Given the description of an element on the screen output the (x, y) to click on. 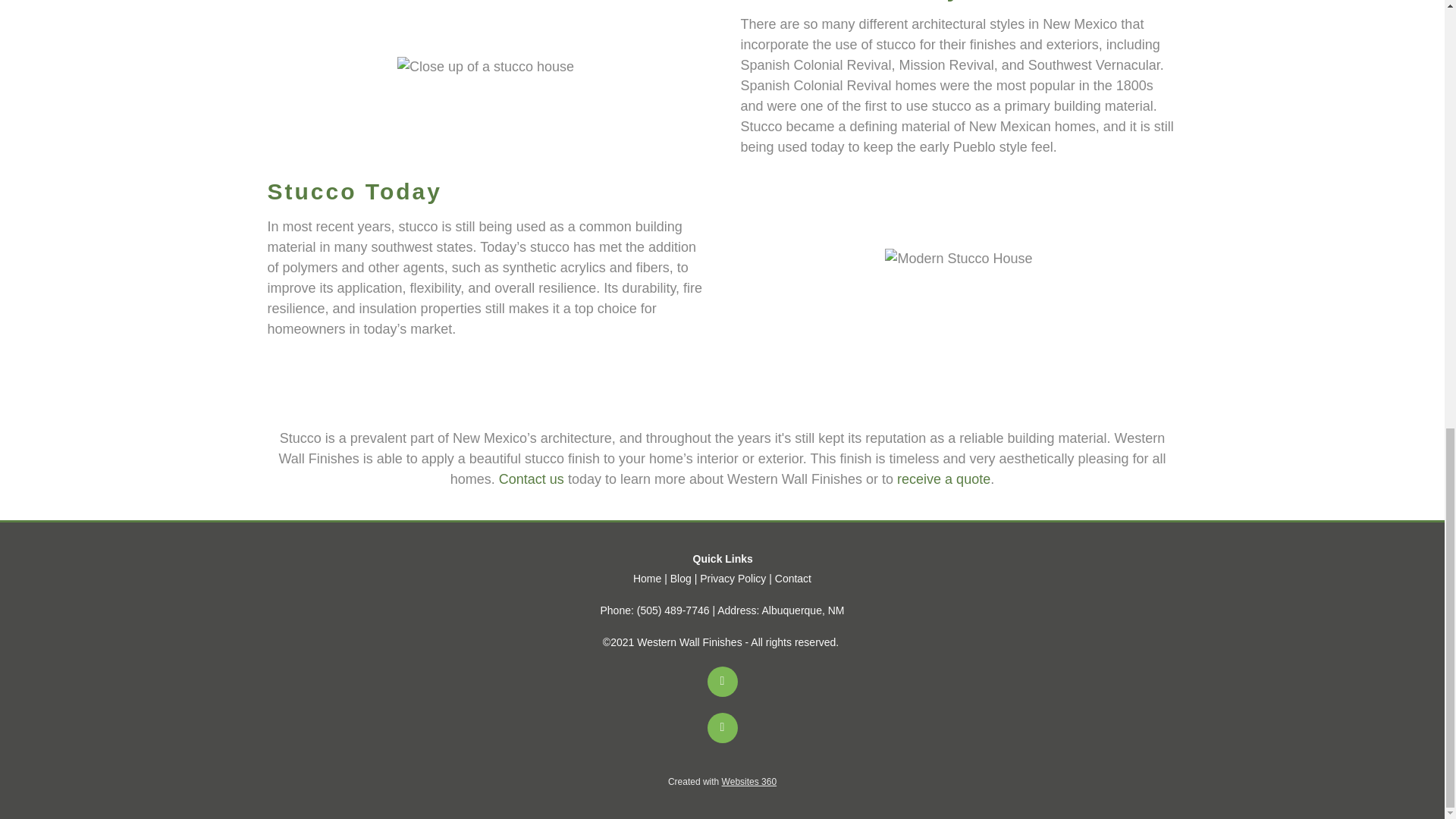
Contact us (531, 478)
Home (647, 578)
Privacy Policy (732, 578)
receive a quote (943, 478)
Albuquerque, NM (802, 610)
Close up of a stucco house (485, 66)
Created with Websites 360 (722, 781)
Modern Stucco House (958, 258)
Contact (792, 578)
Blog (680, 578)
